Given the description of an element on the screen output the (x, y) to click on. 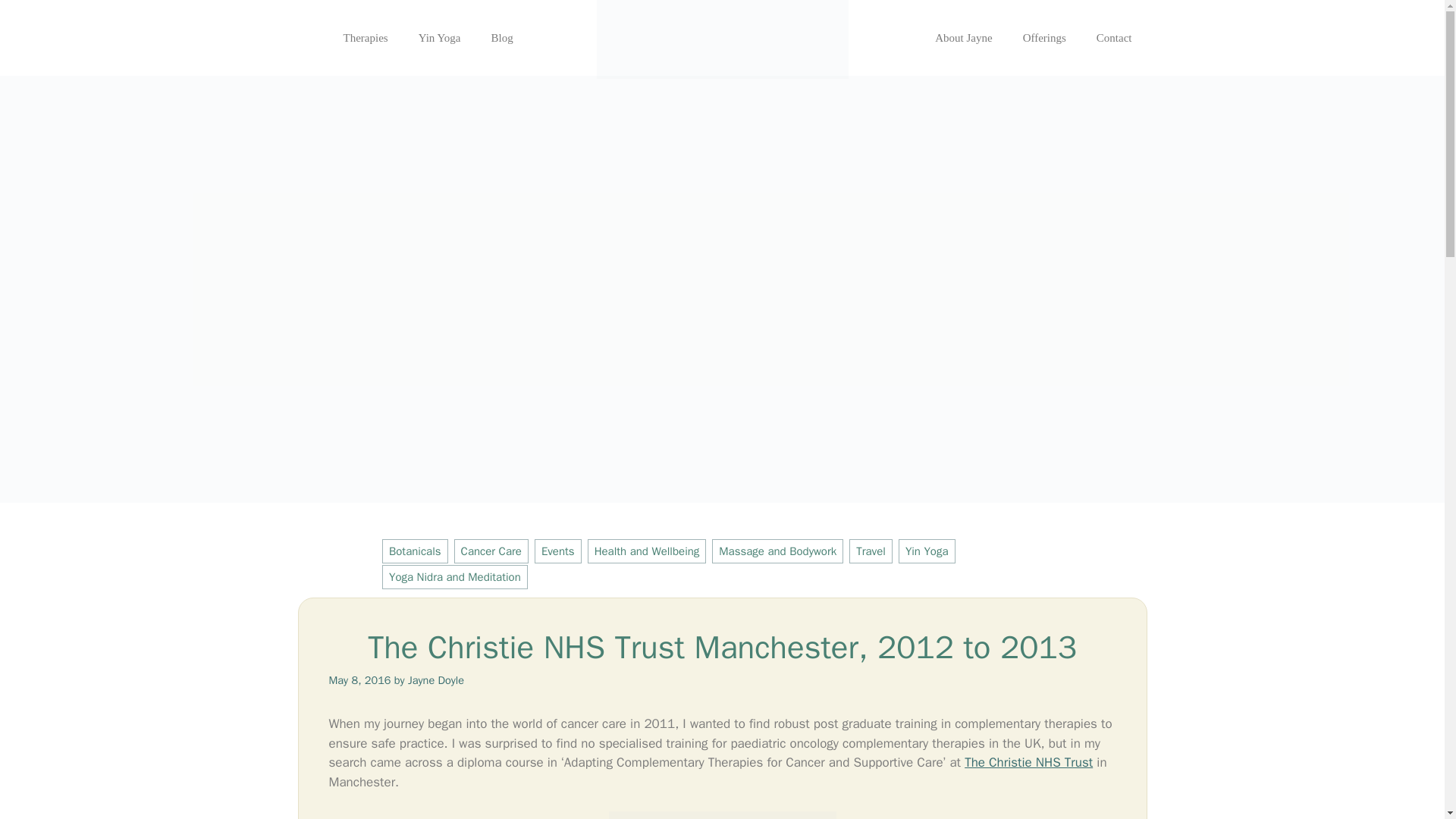
The Christie NHS Trust (1028, 762)
Events (557, 550)
Travel (870, 550)
Offerings (1044, 37)
Blog (502, 37)
Jayne Doyle (435, 680)
Health and Wellbeing (647, 550)
Yin Yoga (439, 37)
Therapies (365, 37)
Botanicals (414, 550)
Cancer Care (491, 550)
About Jayne (963, 37)
Yin Yoga (926, 550)
View all posts by Jayne Doyle (435, 680)
Yoga Nidra and Meditation (454, 576)
